Given the description of an element on the screen output the (x, y) to click on. 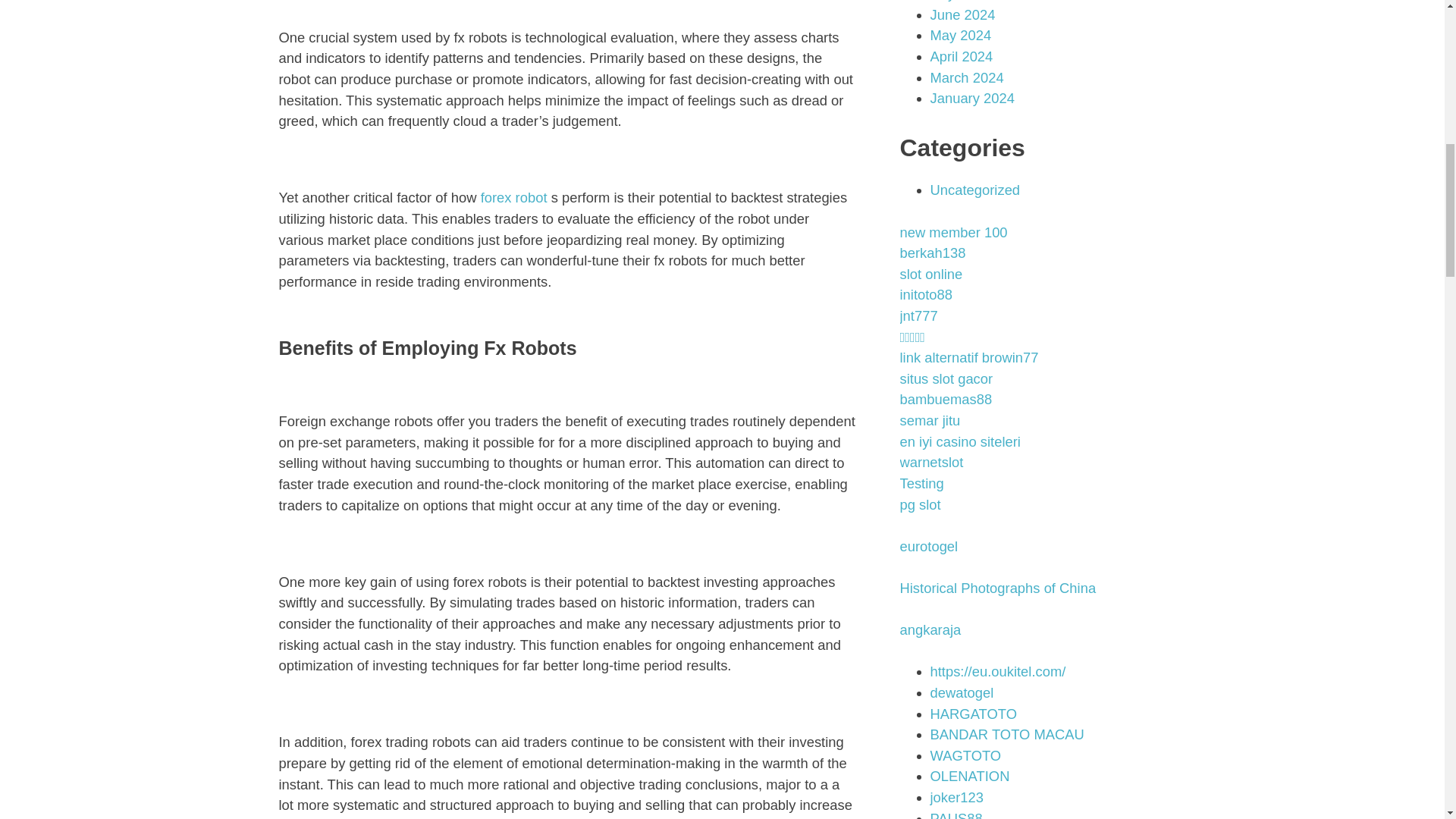
slot online (930, 273)
Uncategorized (975, 189)
forex robot (513, 197)
berkah138 (932, 252)
semar jitu (929, 420)
June 2024 (962, 14)
bambuemas88 (945, 399)
March 2024 (966, 77)
jnt777 (918, 315)
link alternatif browin77 (968, 357)
initoto88 (925, 294)
new member 100 (953, 232)
situs slot gacor (945, 378)
January 2024 (971, 98)
July 2024 (960, 0)
